Given the description of an element on the screen output the (x, y) to click on. 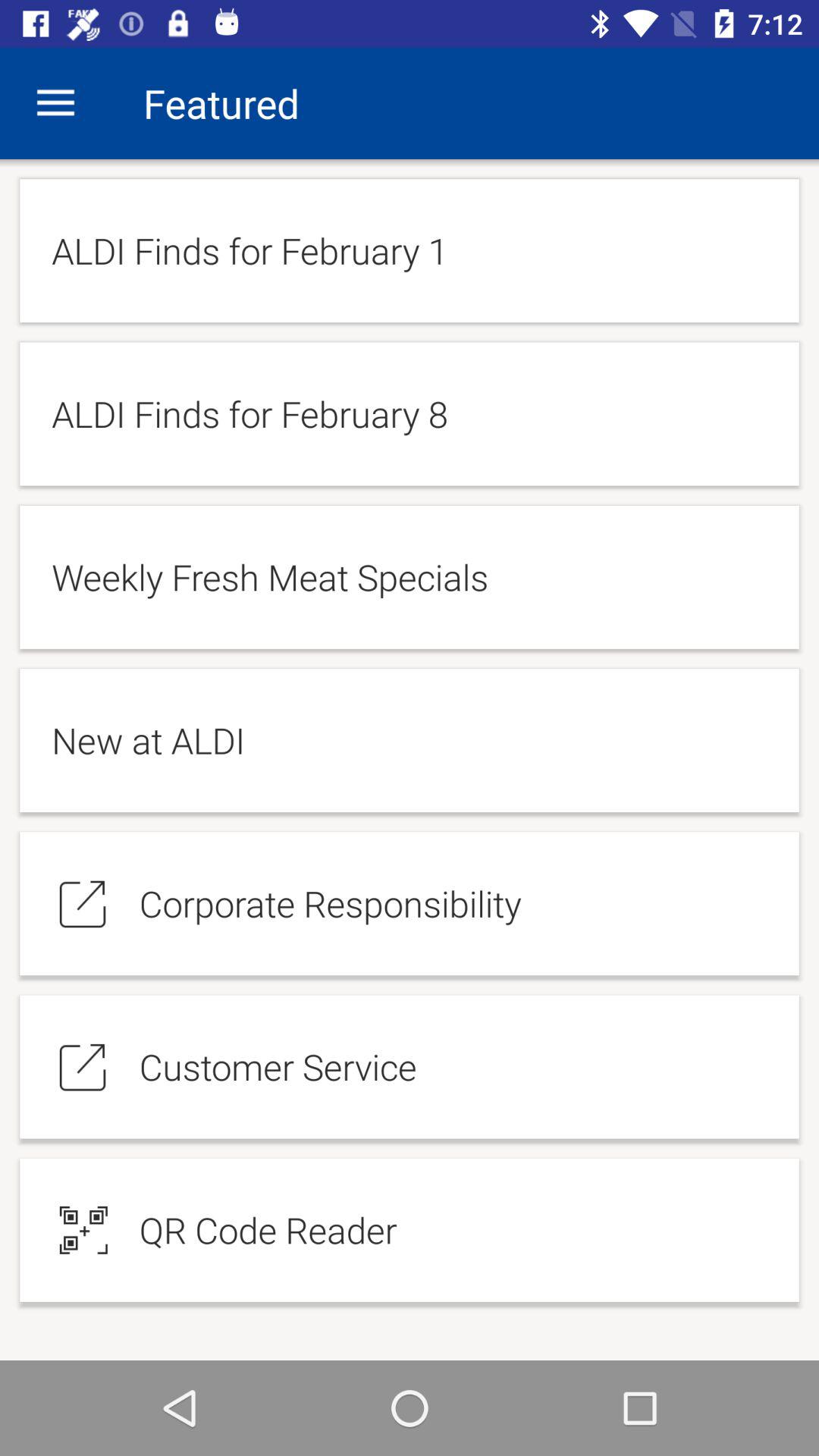
launch the app to the left of featured icon (55, 103)
